Given the description of an element on the screen output the (x, y) to click on. 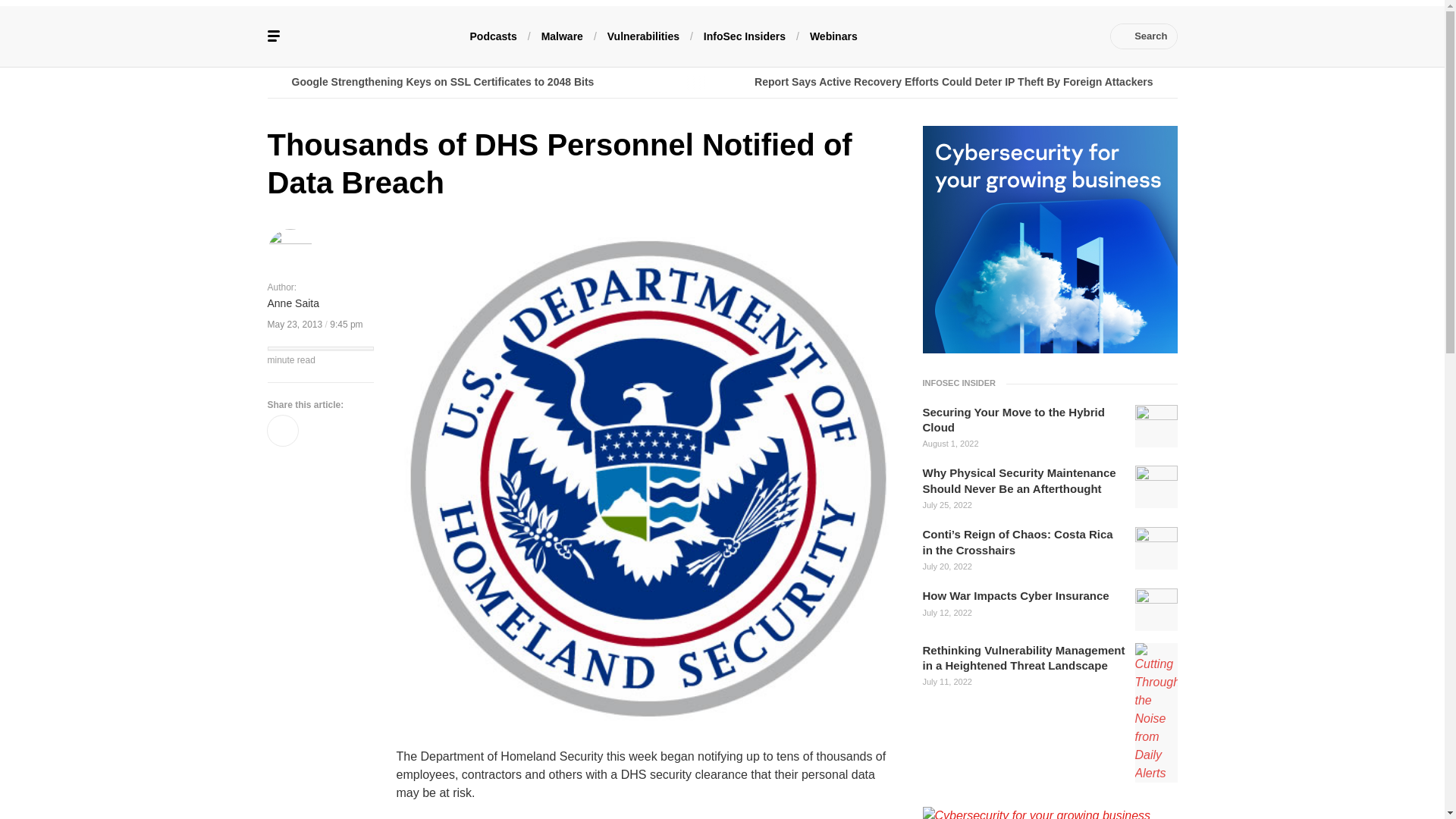
RSS (1080, 36)
Podcasts (493, 35)
LinkedIn (989, 36)
InfoSec Insiders (744, 35)
Facebook (944, 36)
Securing Your Move to the Hybrid Cloud (1023, 419)
YouTube (1012, 36)
Instagram (1057, 36)
Vulnerabilities (643, 35)
Threatpost (379, 36)
